Given the description of an element on the screen output the (x, y) to click on. 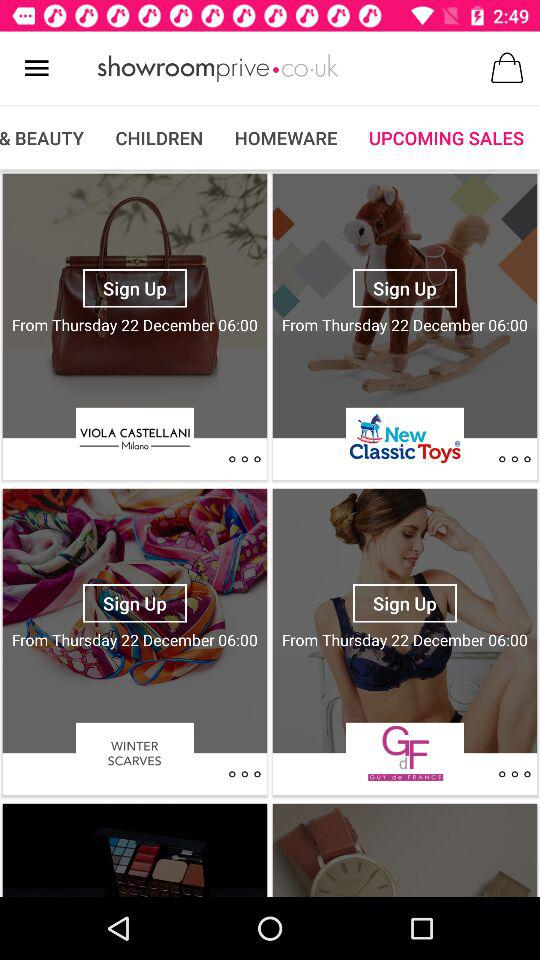
move to first logo below from thursday 22 december 0600 from bottom corner of the page (404, 753)
click on the second row first box (134, 620)
select sign up button which is above gf (404, 603)
click on the icon on the second row first image (244, 774)
select the second image which is on the bottom of the page (405, 847)
click on the dots option to the right of new classic toys text (514, 459)
select the second add under upcoming sale (405, 326)
